Given the description of an element on the screen output the (x, y) to click on. 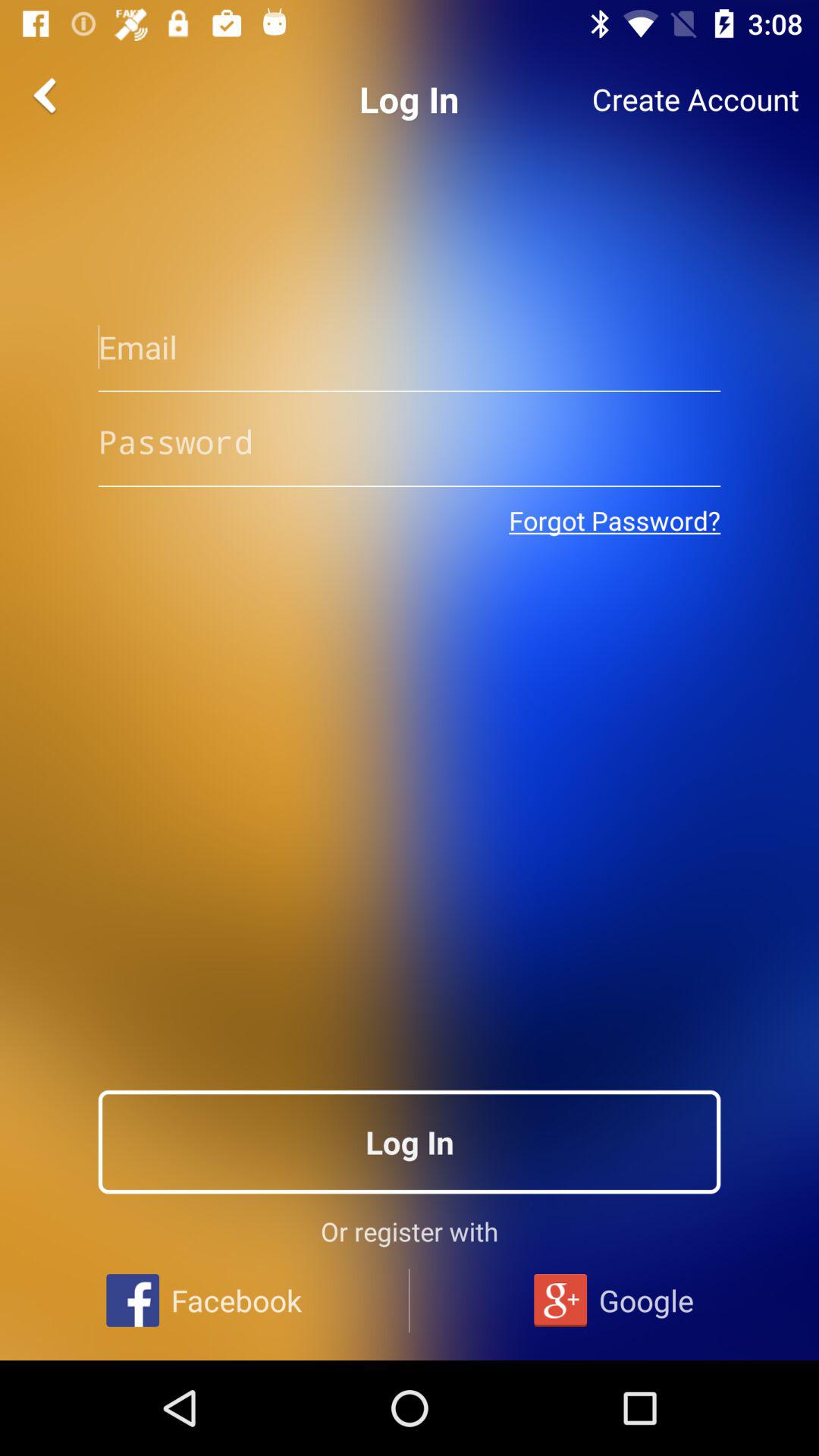
launch the icon at the top right corner (695, 99)
